Given the description of an element on the screen output the (x, y) to click on. 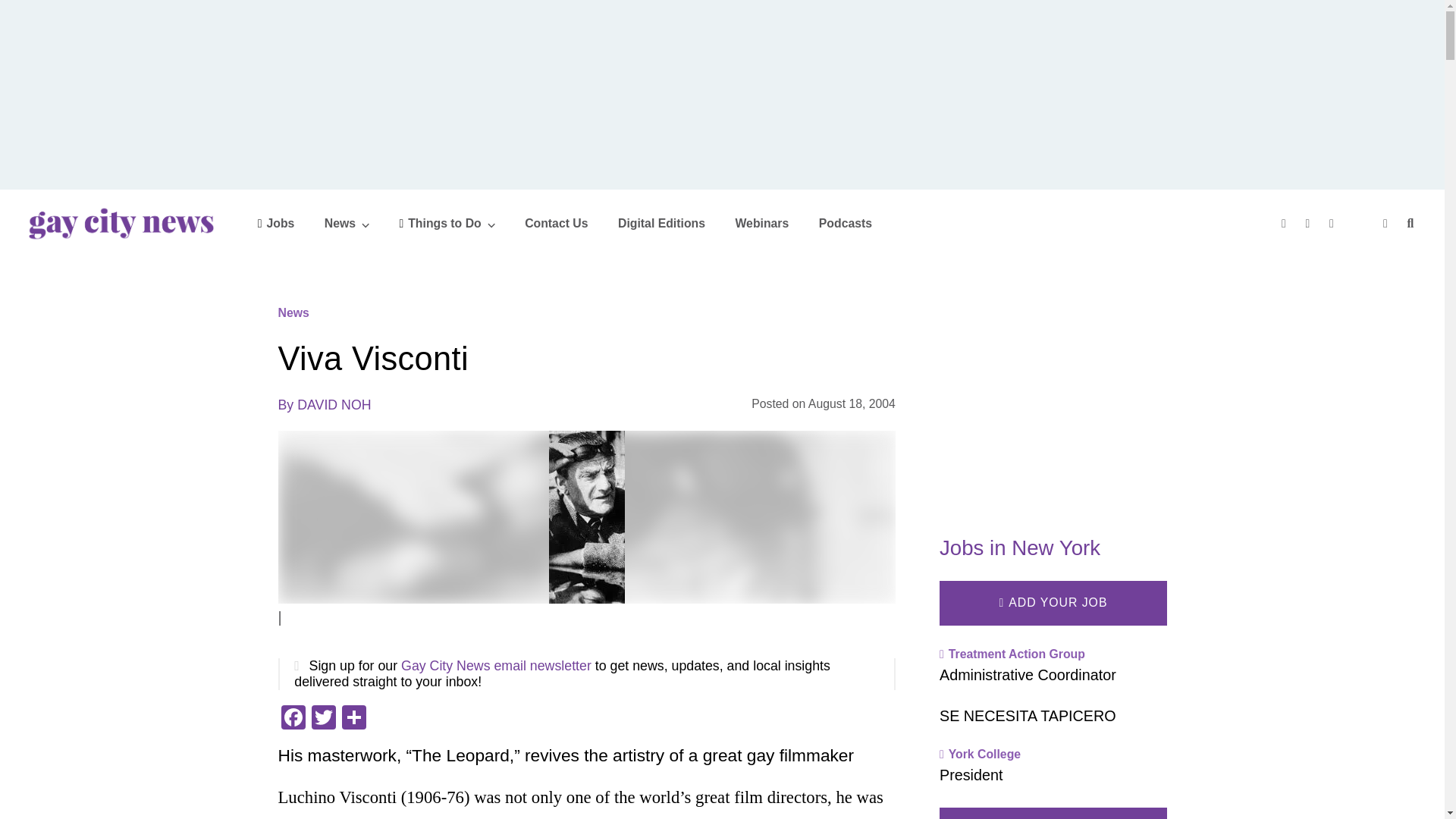
Facebook (292, 719)
News (346, 223)
Jobs (276, 223)
Twitter (322, 719)
Contact Us (556, 223)
Podcasts (845, 223)
Things to Do (446, 223)
Digital Editions (660, 223)
Webinars (762, 223)
